Given the description of an element on the screen output the (x, y) to click on. 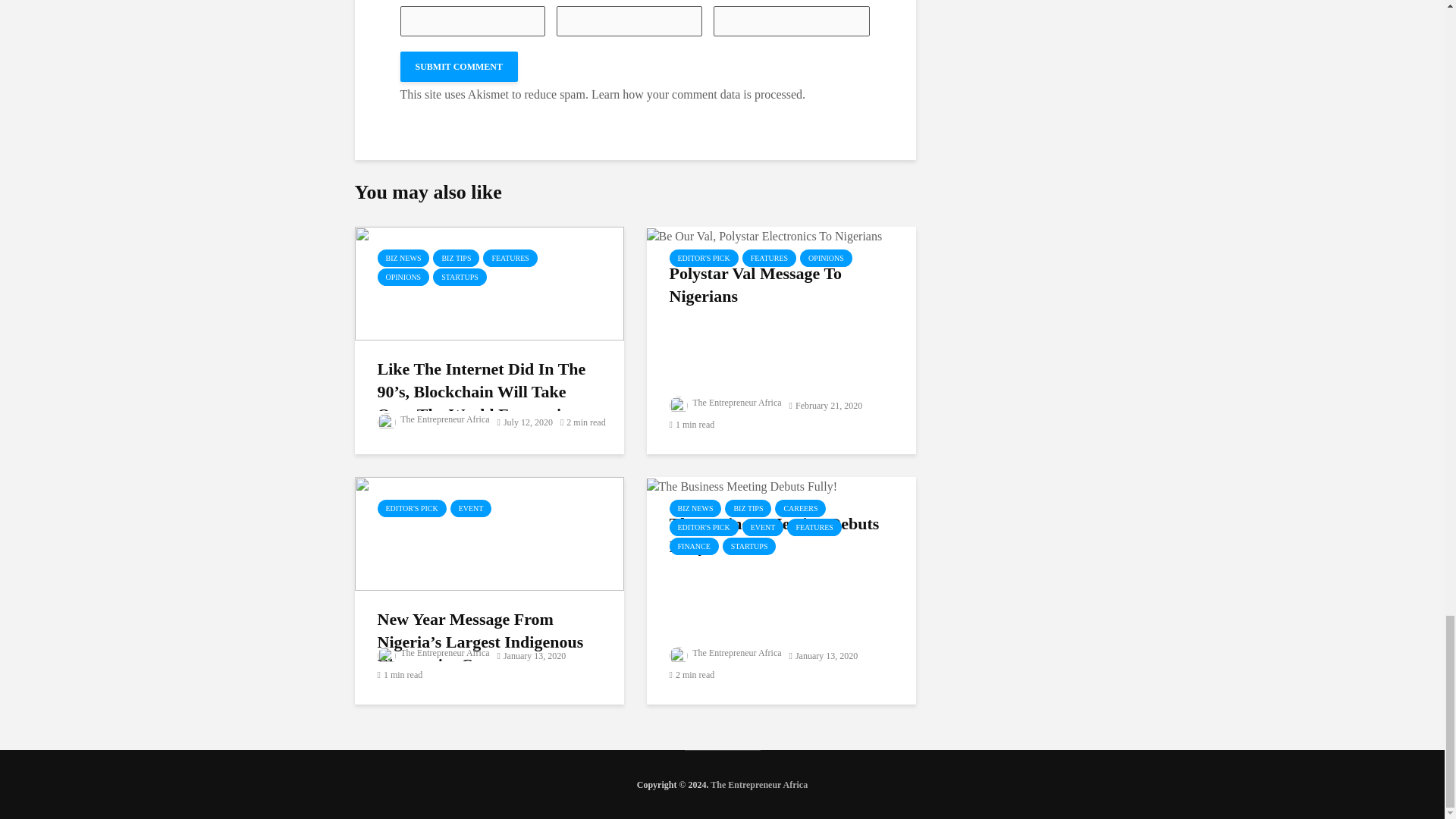
Submit Comment (459, 66)
Polystar Val Message To Nigerians (764, 234)
The Business Meeting Debuts Fully! (741, 484)
